Given the description of an element on the screen output the (x, y) to click on. 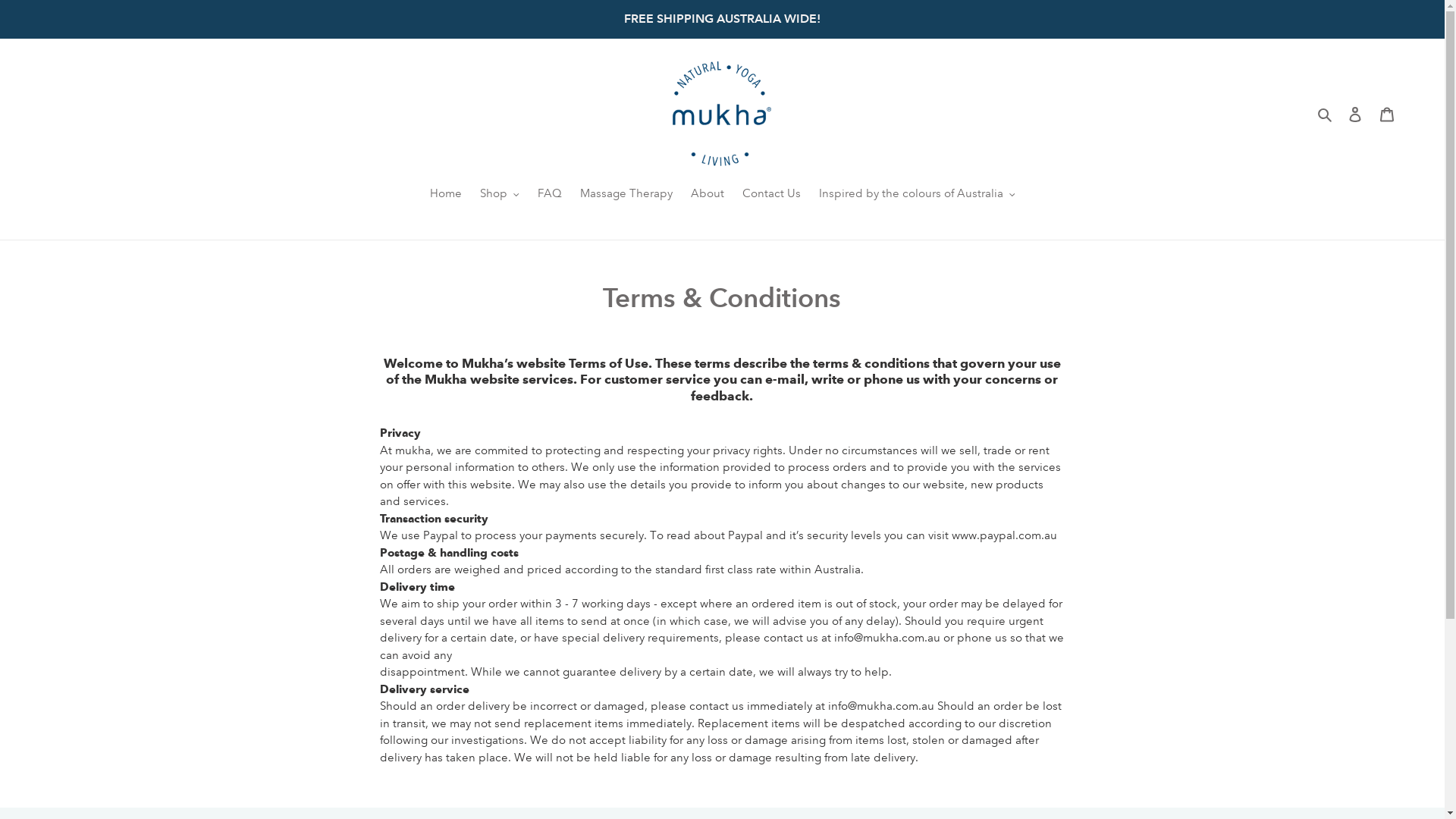
Log in Element type: text (1355, 113)
About Element type: text (706, 194)
Shop Element type: text (499, 194)
Home Element type: text (445, 194)
Massage Therapy Element type: text (625, 194)
FAQ Element type: text (548, 194)
FREE SHIPPING AUSTRALIA WIDE! Element type: text (722, 18)
Search Element type: text (1325, 113)
Inspired by the colours of Australia Element type: text (916, 194)
Cart Element type: text (1386, 113)
Contact Us Element type: text (770, 194)
